Given the description of an element on the screen output the (x, y) to click on. 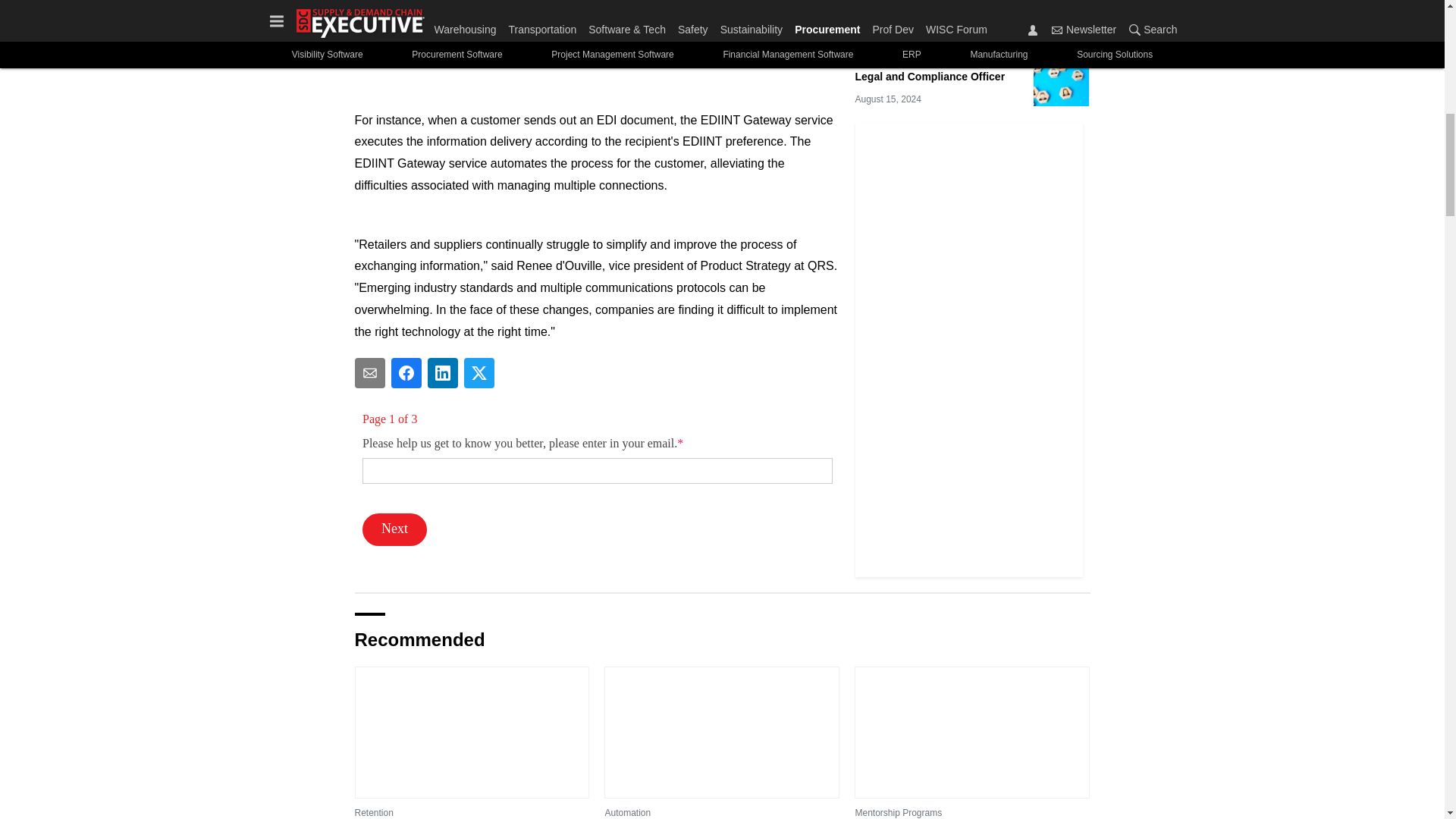
Share To facebook (406, 372)
Share To twitter (479, 372)
Share To email (370, 372)
Interaction questions (597, 478)
Share To linkedin (443, 372)
